Given the description of an element on the screen output the (x, y) to click on. 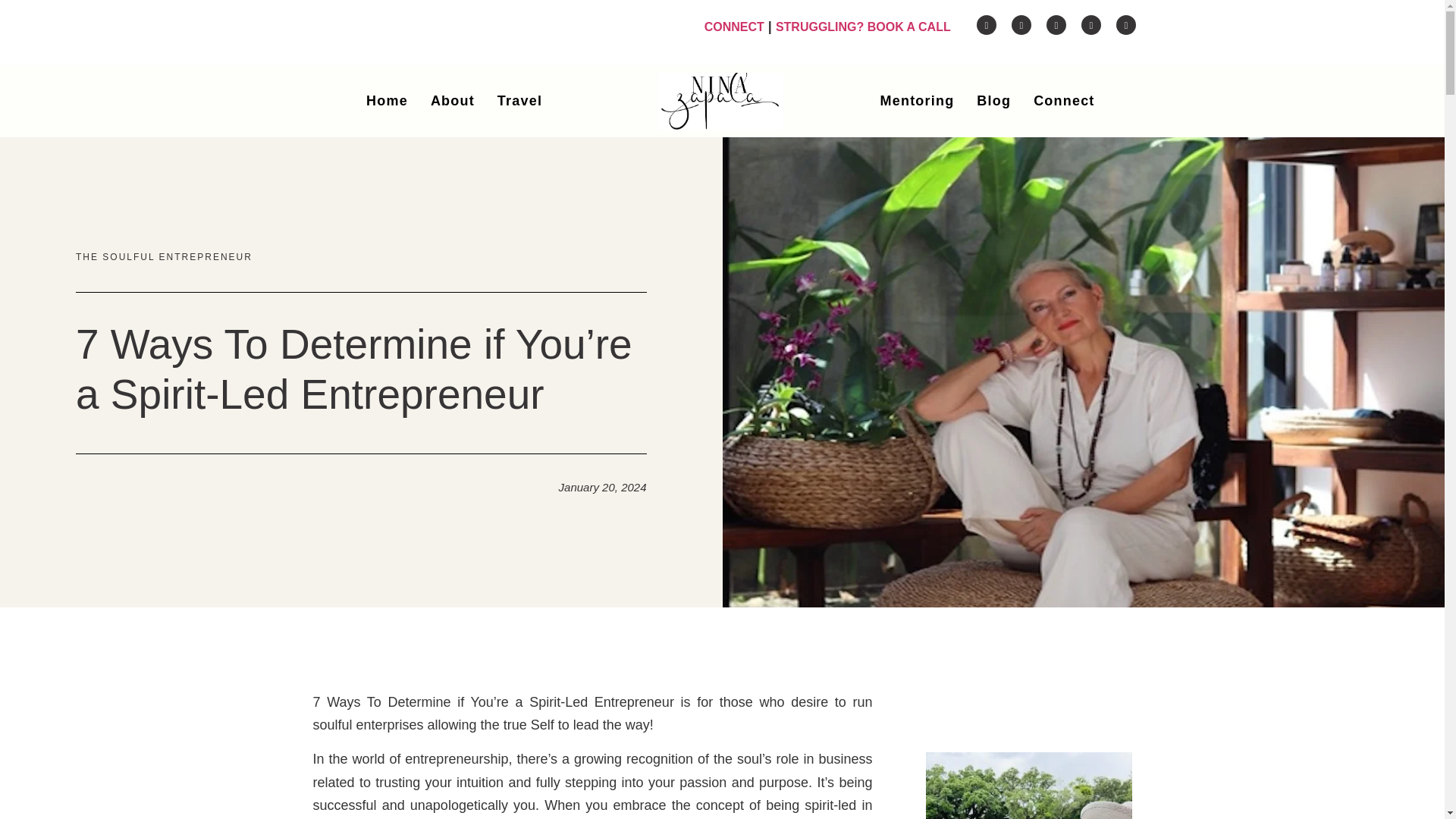
Blog (993, 100)
THE SOULFUL ENTREPRENEUR (163, 256)
January 20, 2024 (602, 487)
Home (386, 100)
Nina Zapala blog photo (1027, 785)
CONNECT (734, 26)
About (452, 100)
STRUGGLING? BOOK A CALL (863, 26)
Mentoring (917, 100)
Travel (519, 100)
